Given the description of an element on the screen output the (x, y) to click on. 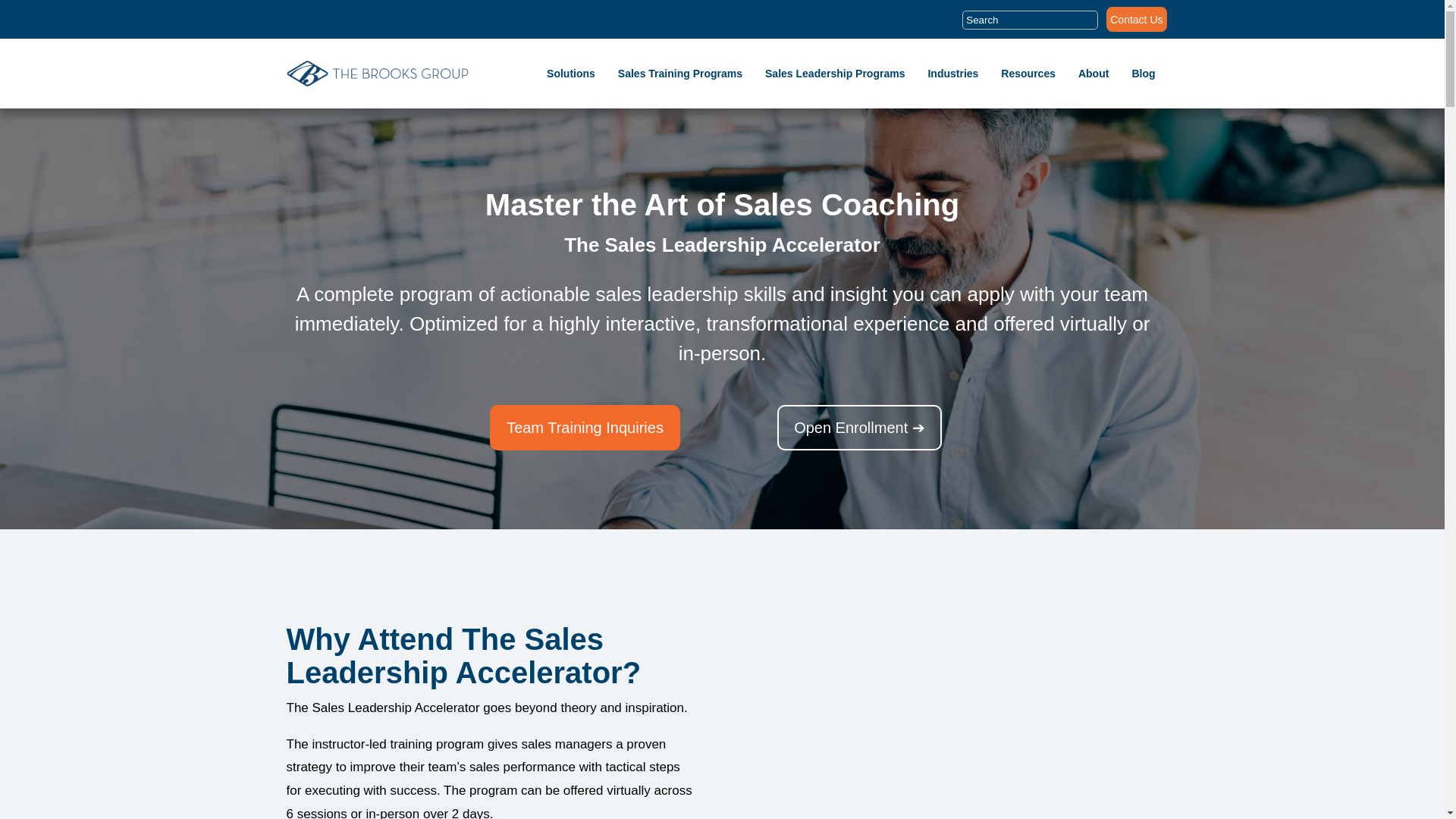
Sales Training Programs (679, 73)
Search for: (1029, 25)
Contact Us (1135, 22)
Sales Leadership Programs (834, 73)
